Given the description of an element on the screen output the (x, y) to click on. 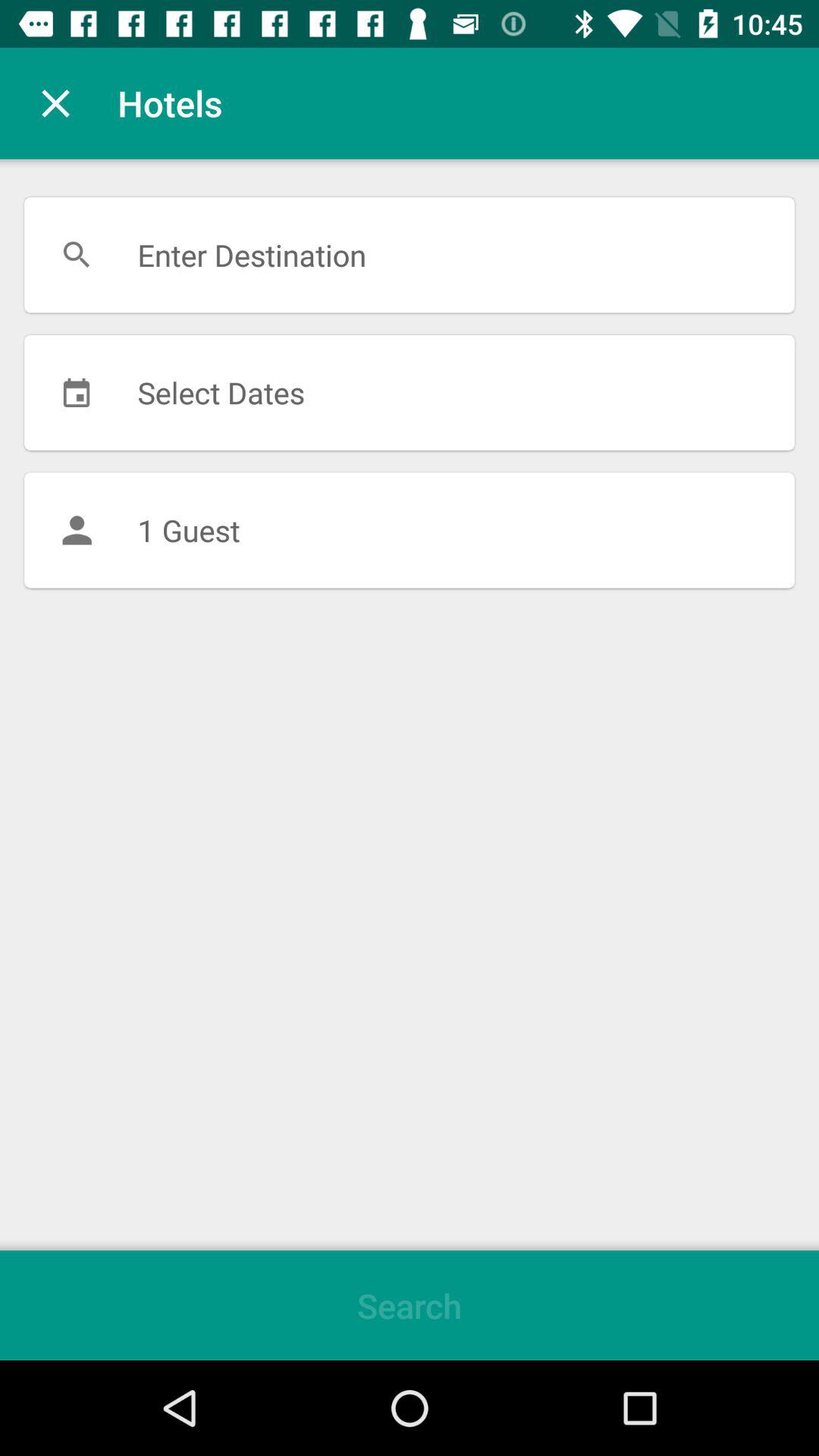
open the item at the center (409, 530)
